Given the description of an element on the screen output the (x, y) to click on. 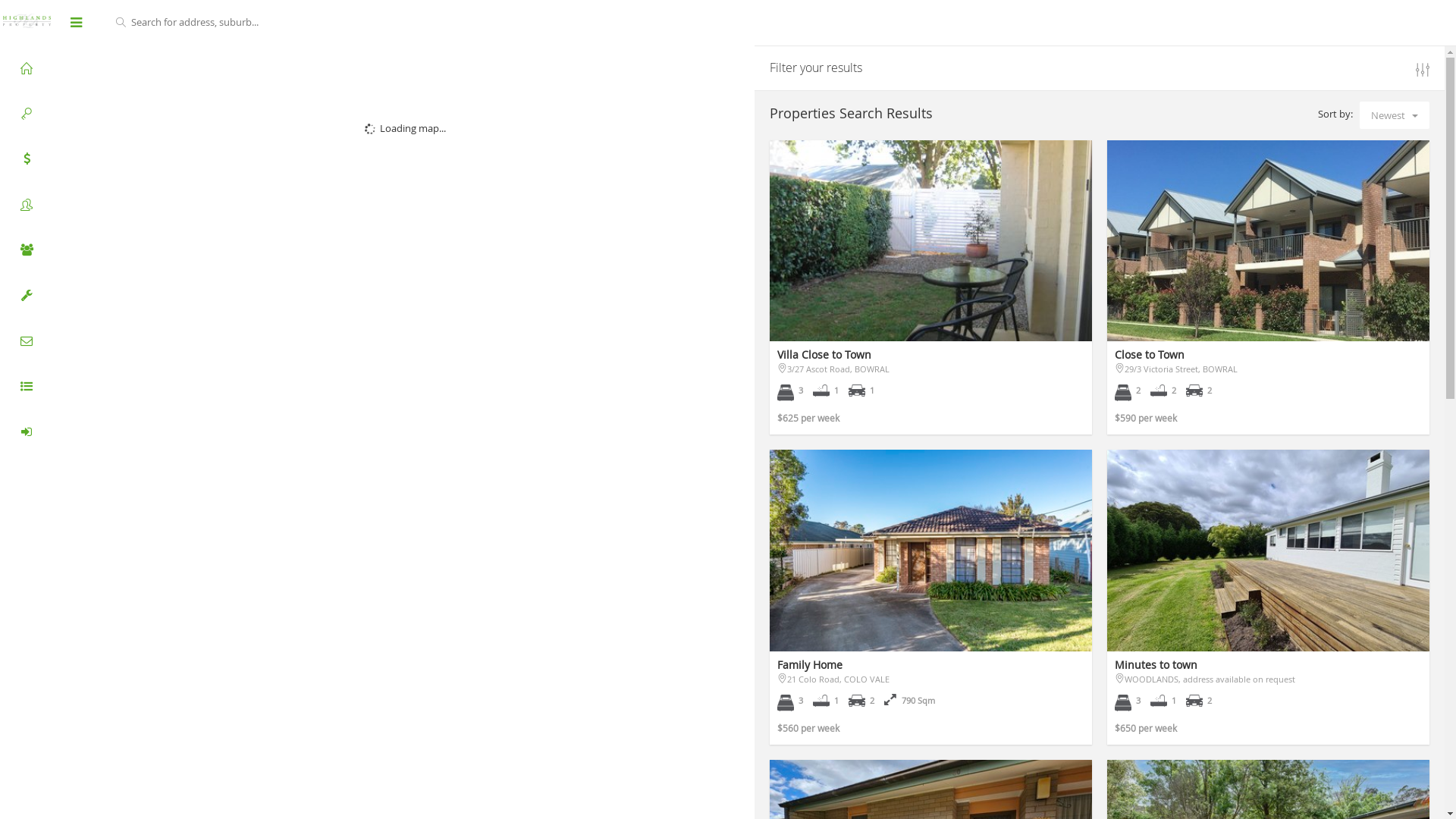
Sell Element type: text (26, 159)
Newest
    Element type: text (1394, 114)
Our Story Element type: text (26, 204)
Contact Us Element type: text (26, 341)
Even more Element type: text (26, 386)
Rent Element type: text (26, 113)
Alerts Element type: text (26, 432)
Storage Sheds Element type: text (26, 295)
Buy Element type: text (26, 68)
Meet the Team Element type: text (26, 250)
